Given the description of an element on the screen output the (x, y) to click on. 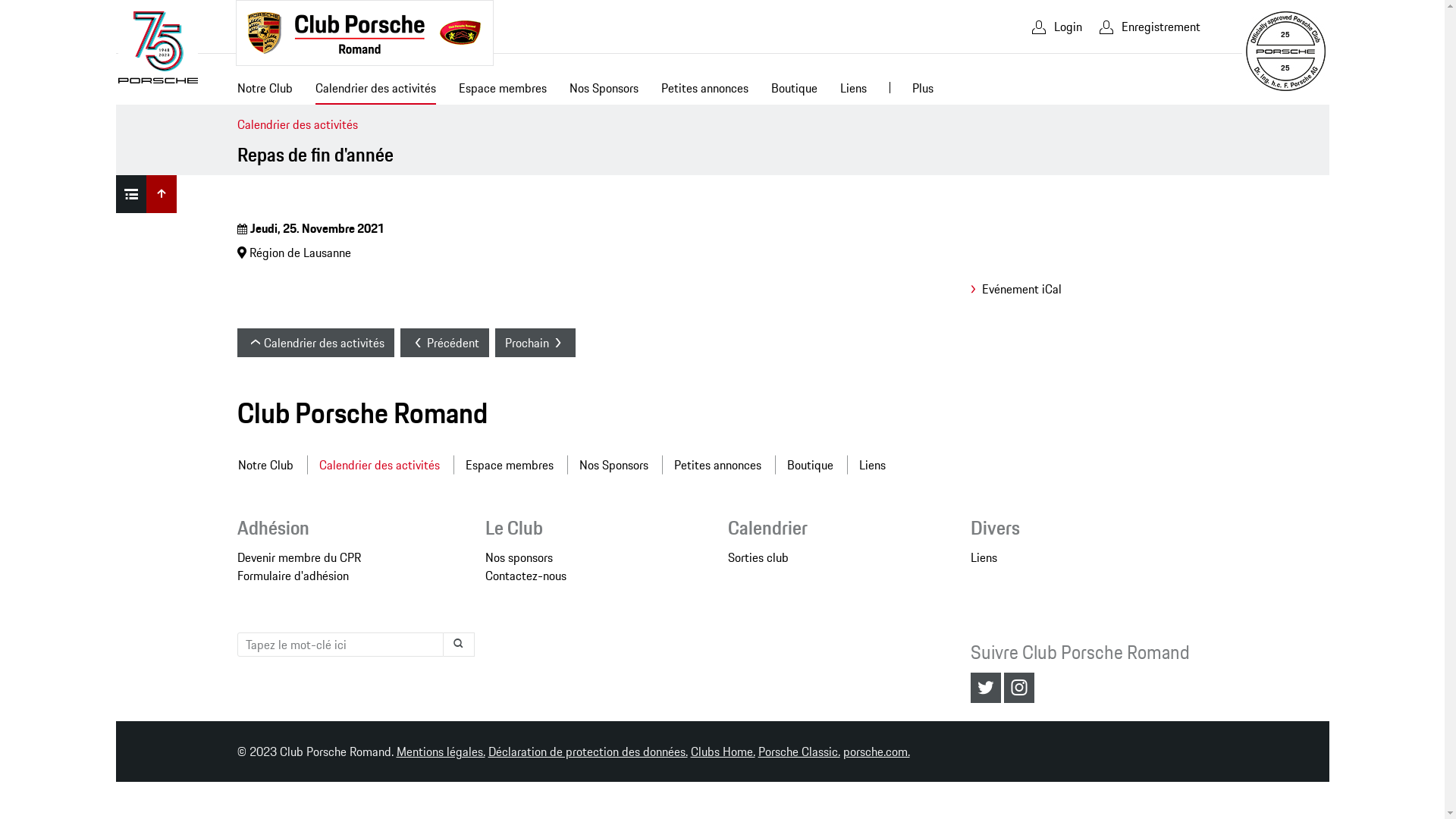
Boutique Element type: text (810, 464)
Prochain Element type: text (534, 342)
Plus Element type: text (922, 90)
Boutique Element type: text (793, 90)
Nos Sponsors Element type: text (613, 464)
Clubs Home. Element type: text (722, 751)
Devenir membre du CPR Element type: text (298, 557)
75 Years of Porsche Element type: hover (157, 47)
Instagram Element type: hover (1019, 687)
Officially approved Porsche Club 25 Element type: hover (1284, 51)
Notre Club Element type: text (264, 90)
Sorties club Element type: text (758, 557)
Notre Club Element type: text (270, 464)
Rechercher Element type: hover (457, 644)
Espace membres Element type: text (502, 90)
Liens Element type: text (852, 90)
Nos Sponsors Element type: text (603, 90)
Login Element type: text (1055, 26)
Liens Element type: text (983, 557)
Twitter Element type: hover (985, 687)
Club Porsche Romand Element type: text (361, 412)
Club Porsche Romand Element type: hover (363, 32)
Espace membres Element type: text (509, 464)
Enregistrement Element type: text (1147, 26)
Porsche Classic. Element type: text (799, 751)
Contactez-nous Element type: text (525, 575)
Petites annonces Element type: text (704, 90)
Nos sponsors Element type: text (518, 557)
Petites annonces Element type: text (716, 464)
Liens Element type: text (871, 464)
porsche.com. Element type: text (876, 751)
